Given the description of an element on the screen output the (x, y) to click on. 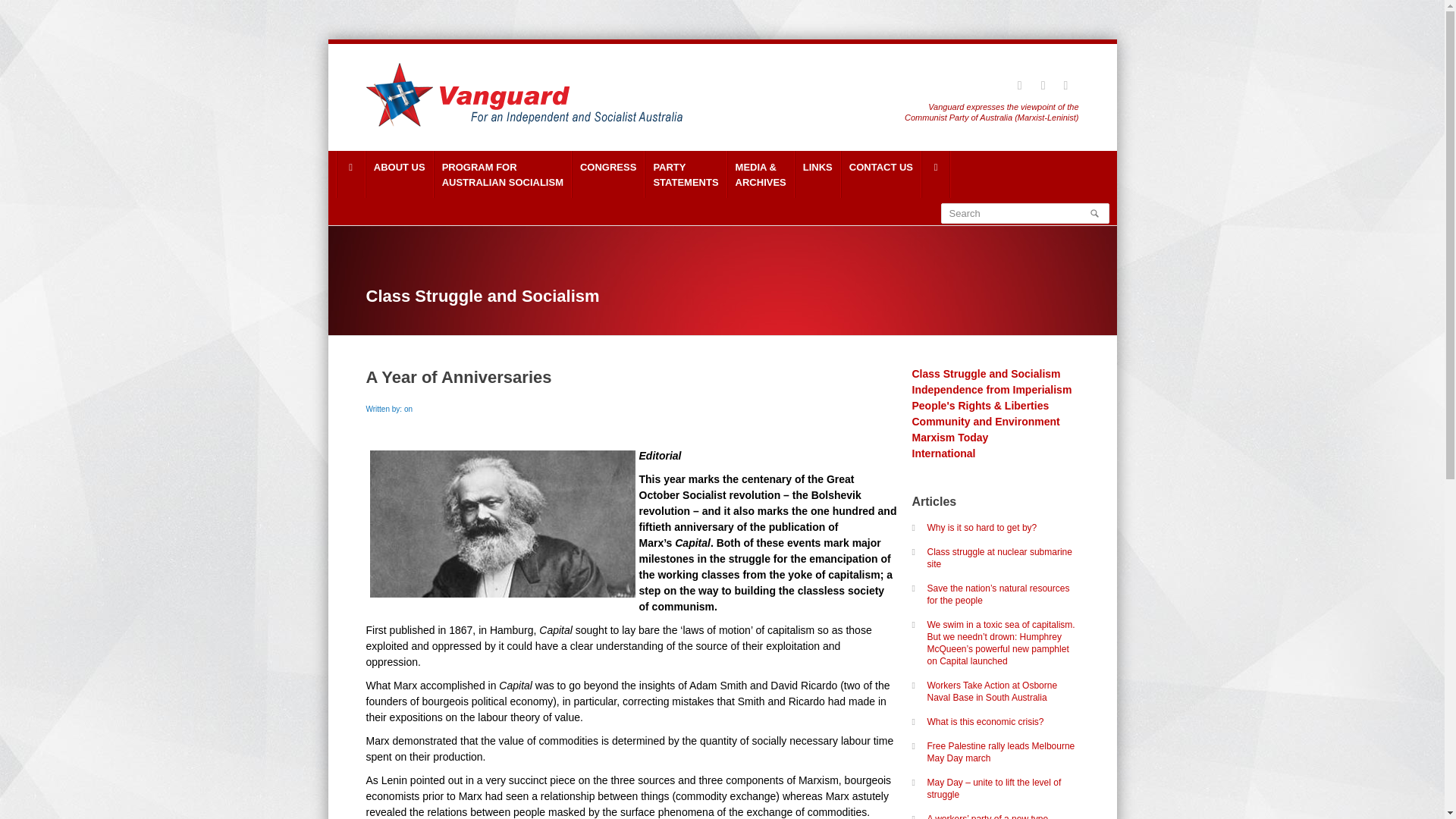
Search (1024, 213)
Search (607, 174)
